Given the description of an element on the screen output the (x, y) to click on. 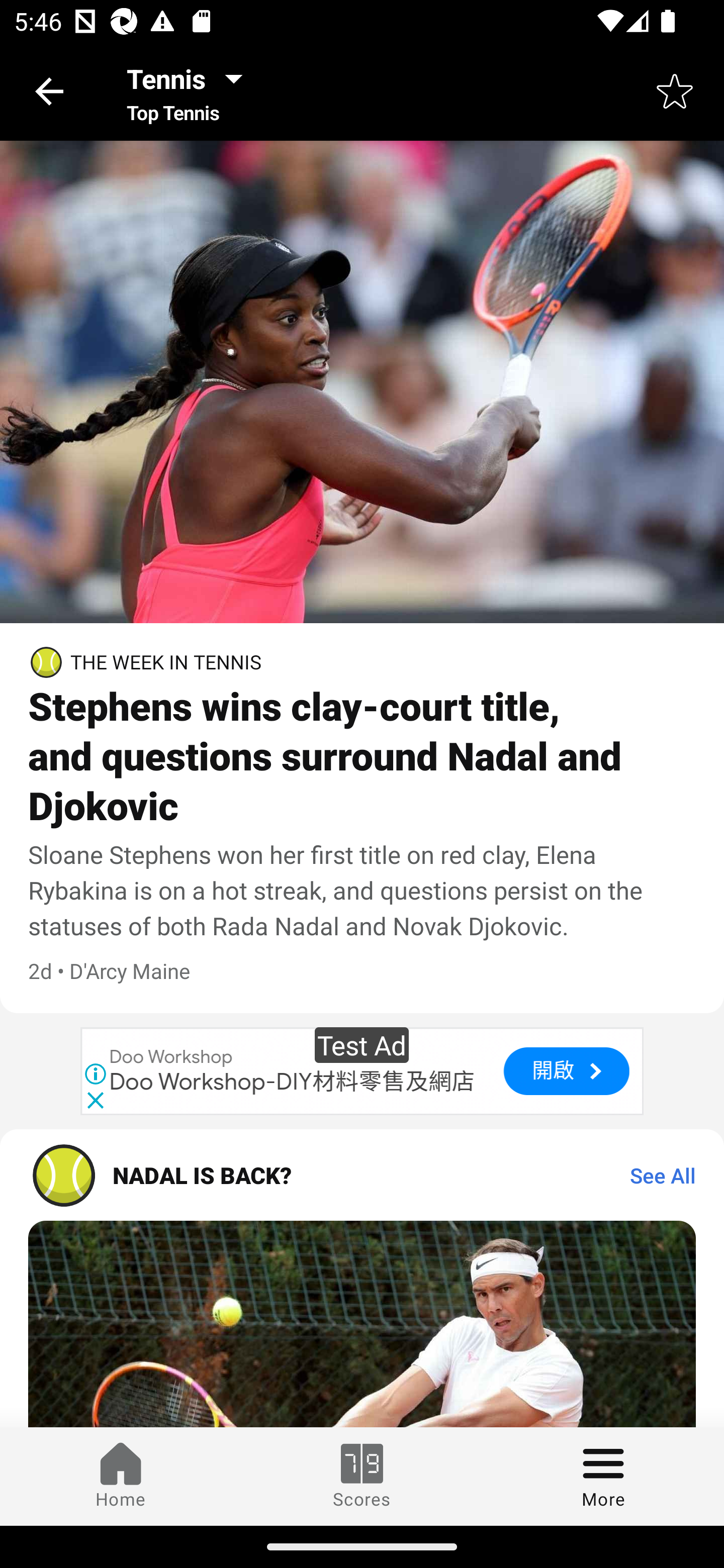
Tennis Top Tennis (190, 90)
Favorite toggle (674, 90)
Doo Workshop (170, 1056)
開啟 (565, 1070)
Doo Workshop-DIY材料零售及網店 (292, 1082)
NADAL IS BACK? See All (362, 1174)
Home (120, 1475)
Scores (361, 1475)
